Given the description of an element on the screen output the (x, y) to click on. 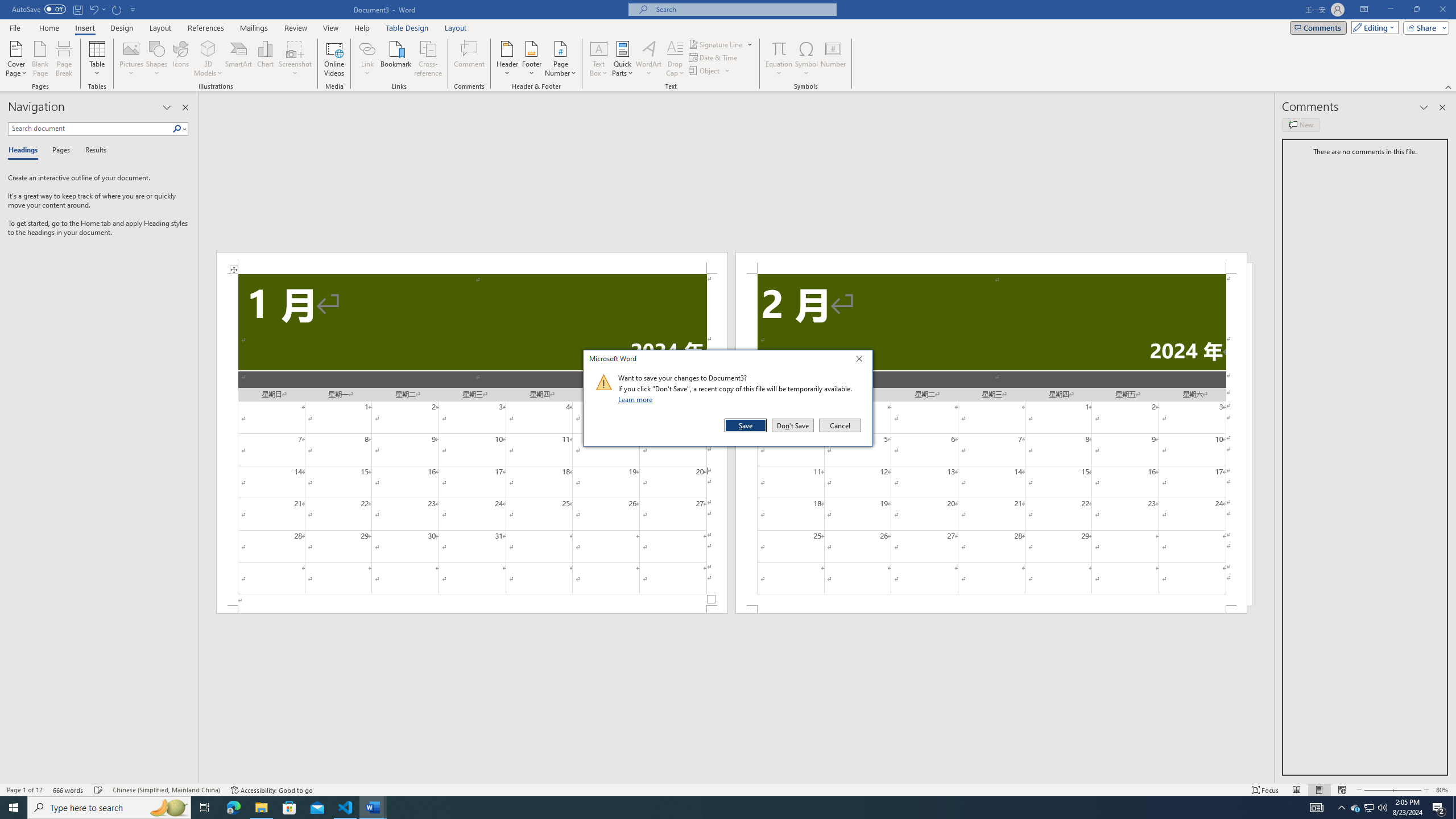
User Promoted Notification Area (1368, 807)
Minimize (1390, 9)
Learn more (636, 399)
Language Chinese (Simplified, Mainland China) (165, 790)
Visual Studio Code - 1 running window (345, 807)
Task View (204, 807)
Repeat Doc Close (117, 9)
Close (862, 360)
Chart... (265, 58)
Don't Save (792, 425)
Text Box (598, 58)
Class: MsoCommandBar (728, 789)
Page Break (63, 58)
Help (361, 28)
3D Models (208, 58)
